Given the description of an element on the screen output the (x, y) to click on. 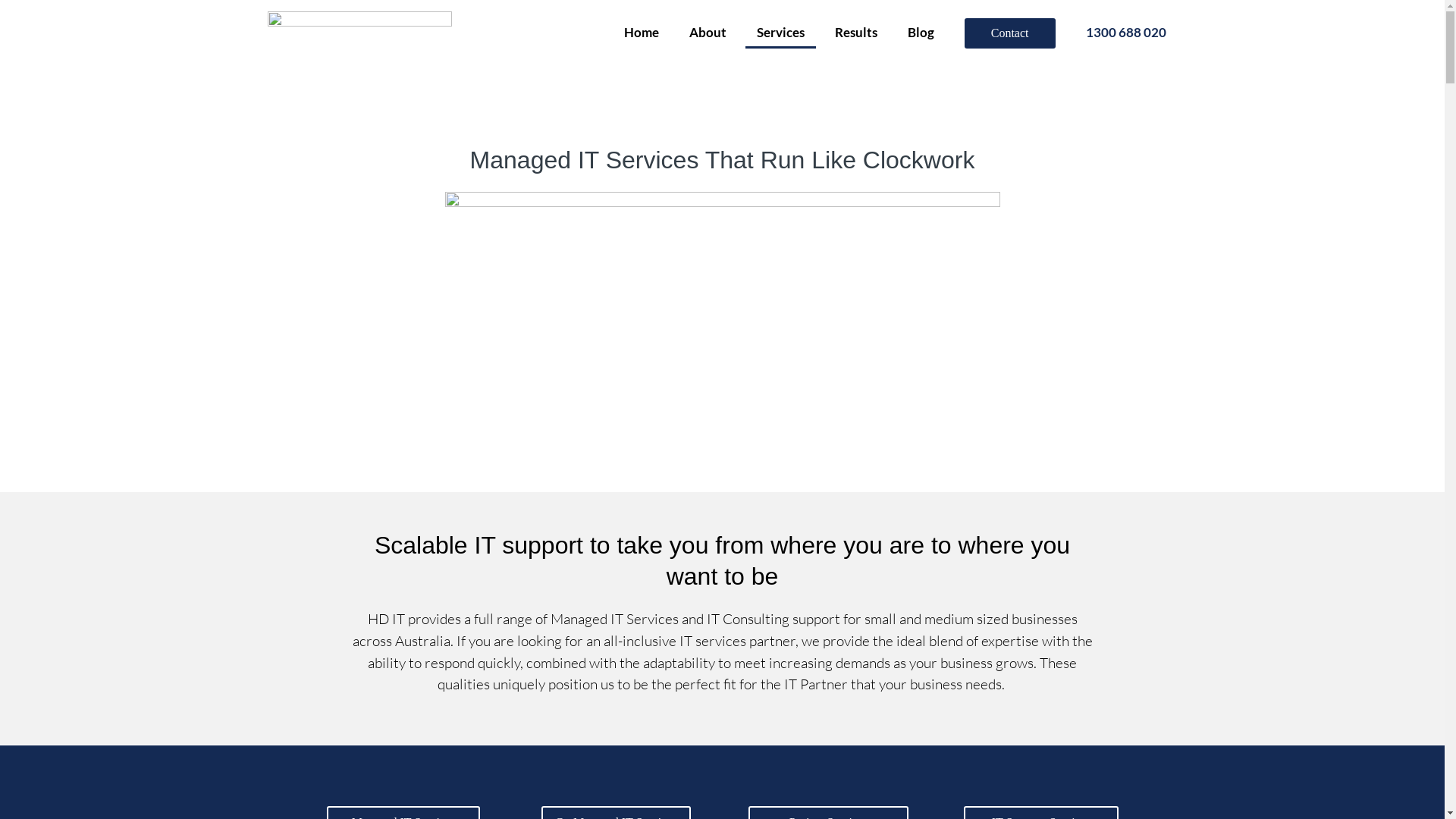
Contact Element type: text (1009, 33)
Contact Element type: text (1009, 39)
Results Element type: text (855, 32)
Home Element type: text (641, 32)
1300 688 020 Element type: text (1124, 32)
About Element type: text (707, 32)
Services Element type: text (780, 32)
Blog Element type: text (920, 32)
